Given the description of an element on the screen output the (x, y) to click on. 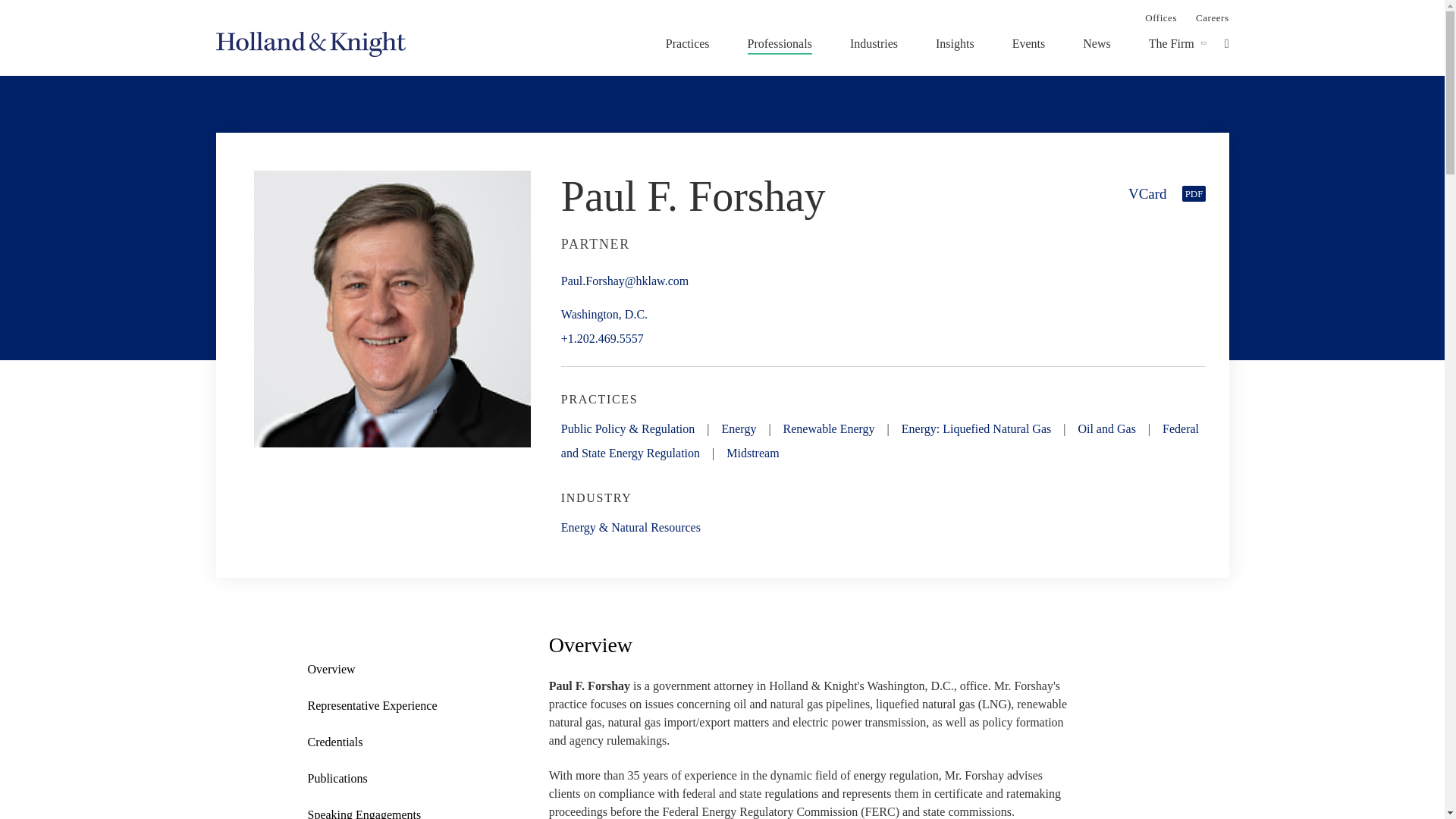
Speaking Engagements (383, 812)
Renewable Energy (829, 428)
Publications (383, 778)
Energy (737, 428)
The Firm (1170, 43)
News (1096, 42)
Professionals (780, 42)
Industries (874, 42)
Practices (687, 42)
Careers (1211, 16)
